Given the description of an element on the screen output the (x, y) to click on. 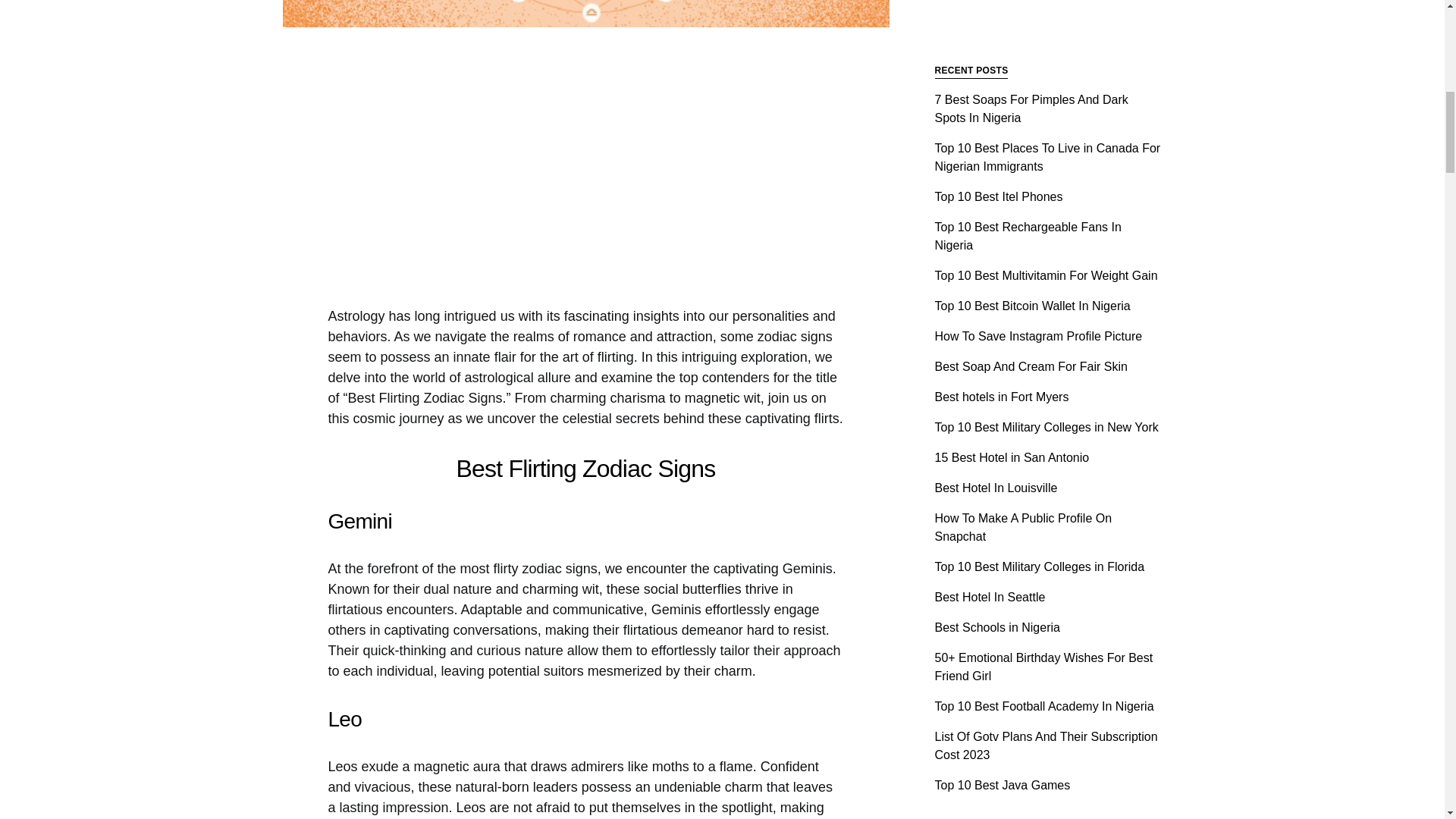
Top 11 Best Flirting Zodiac Signs 1 (585, 13)
